Given the description of an element on the screen output the (x, y) to click on. 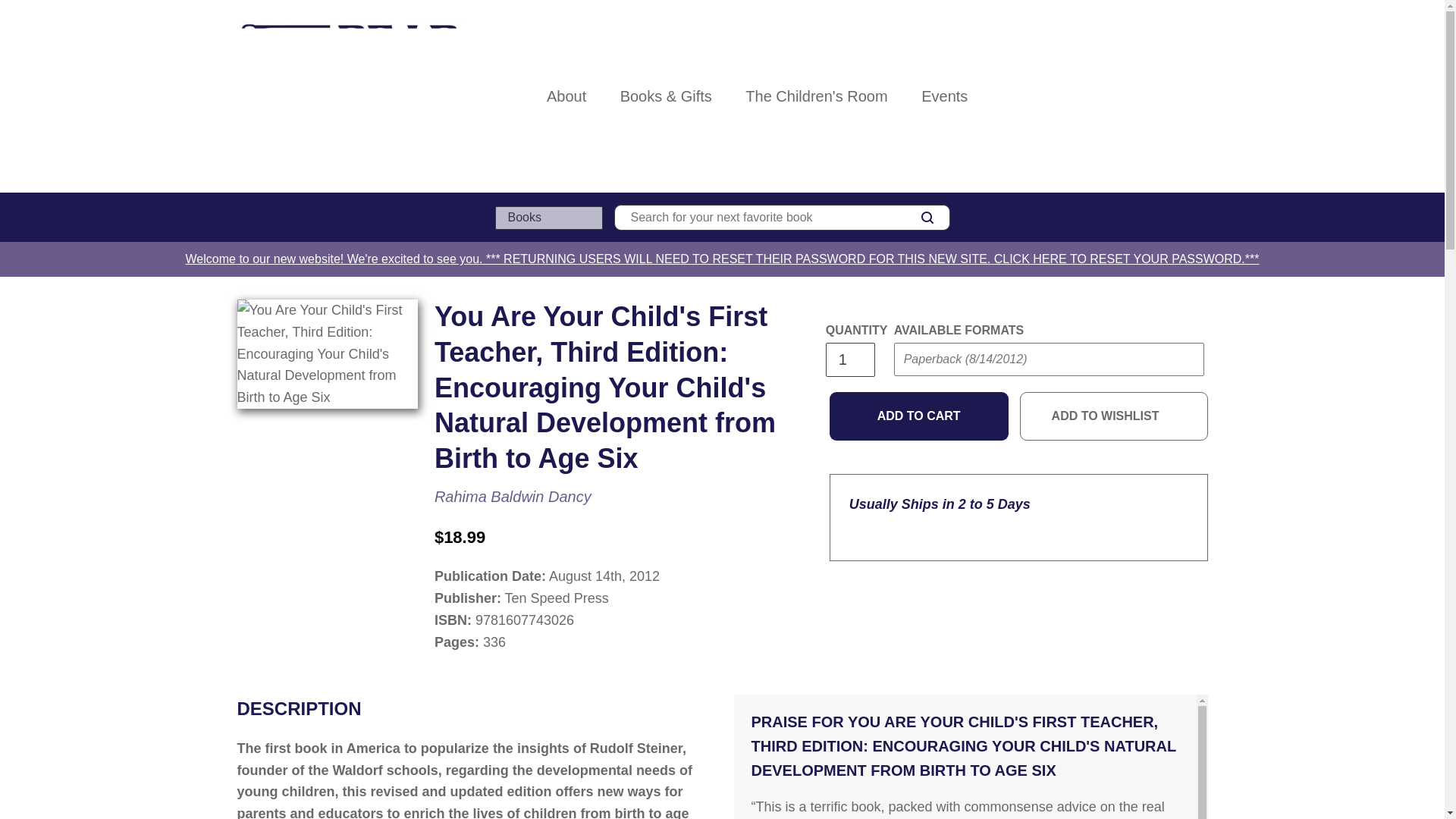
Events (943, 96)
Add to cart (919, 416)
Log in (1134, 96)
The Children's Room (815, 96)
1 (850, 359)
Cart (1201, 96)
Wishlist (1168, 96)
